Given the description of an element on the screen output the (x, y) to click on. 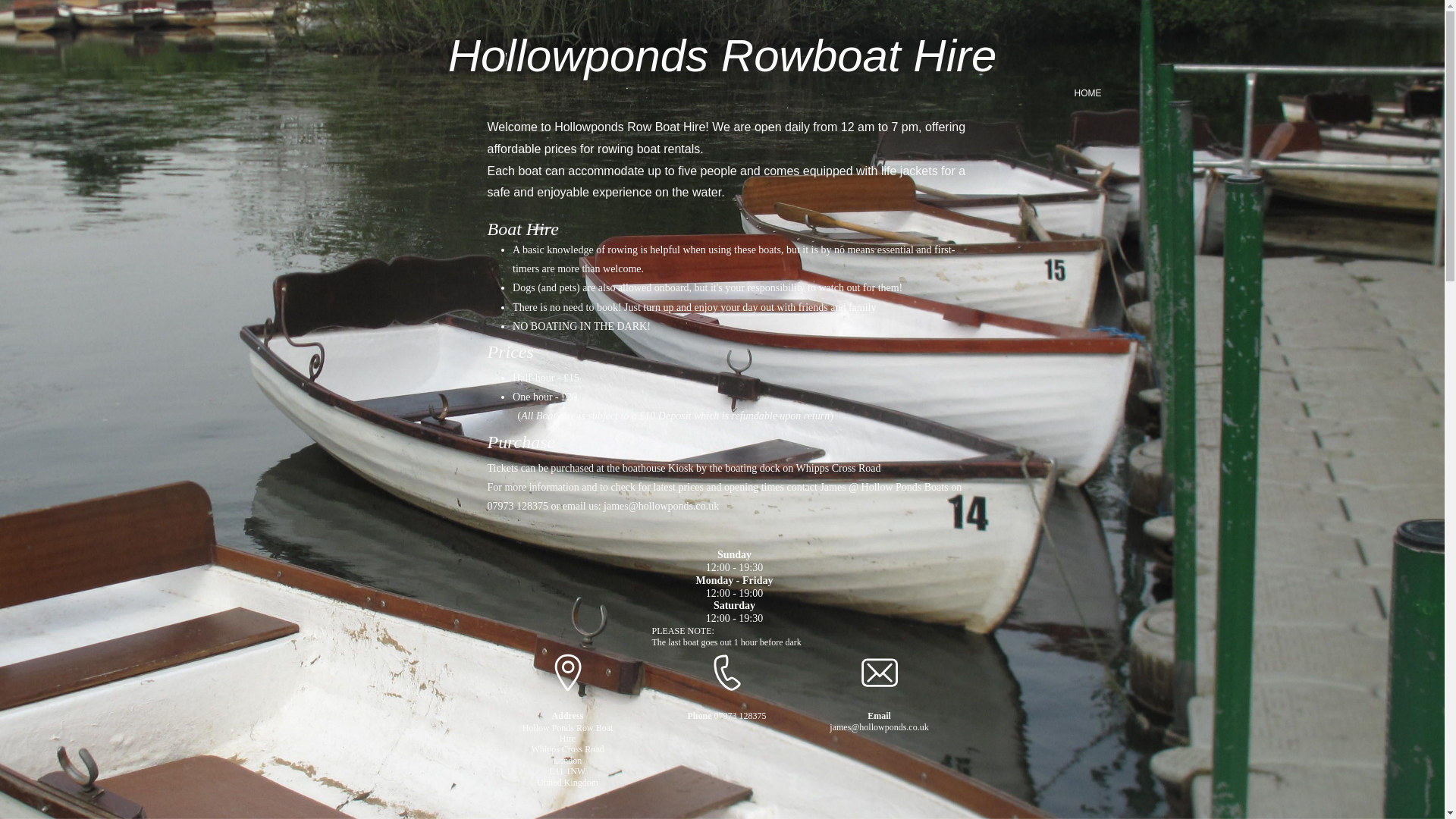
HOME (1087, 95)
07973 128375 (740, 715)
